Given the description of an element on the screen output the (x, y) to click on. 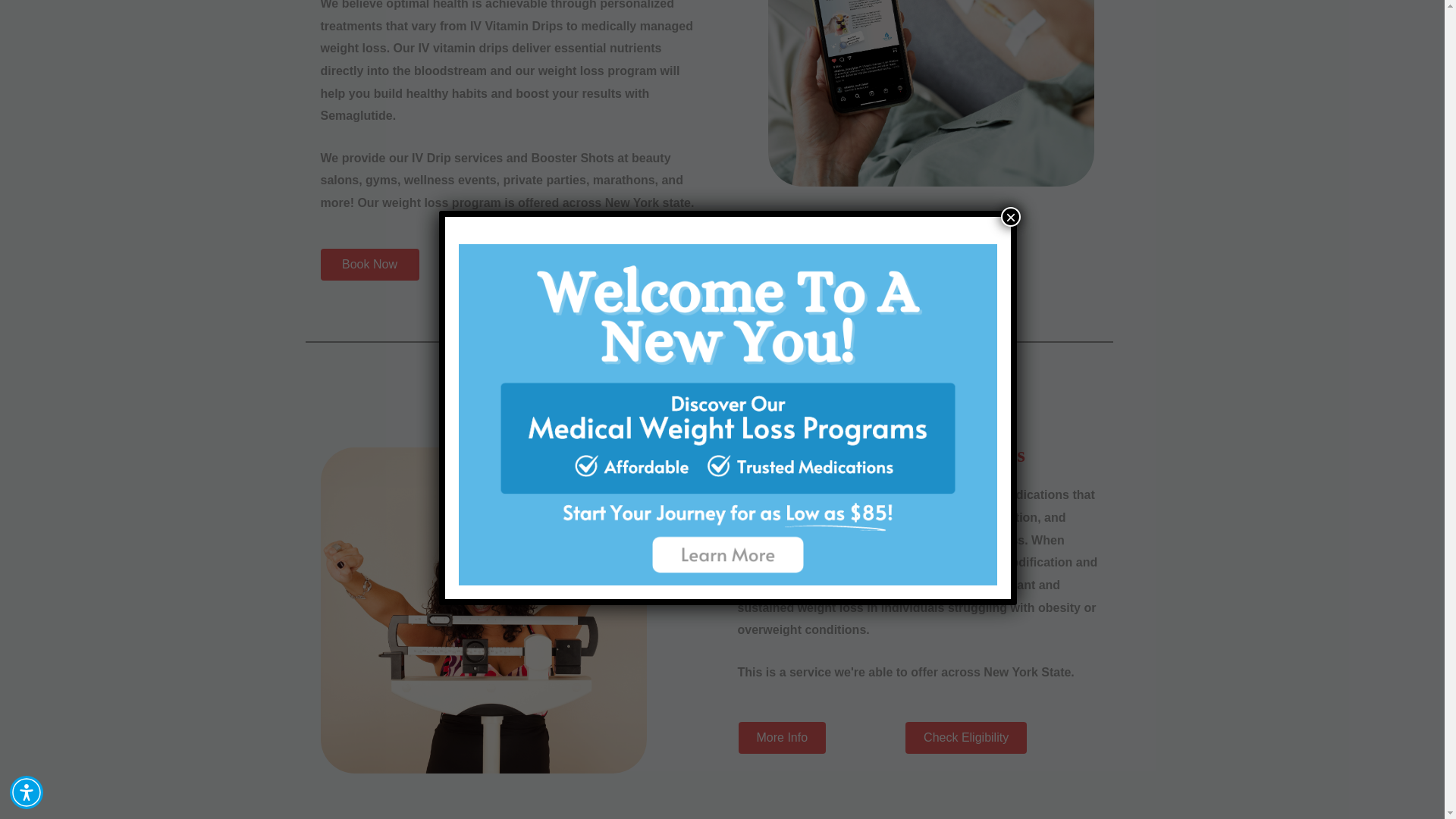
Mobile IV Services (930, 93)
